Given the description of an element on the screen output the (x, y) to click on. 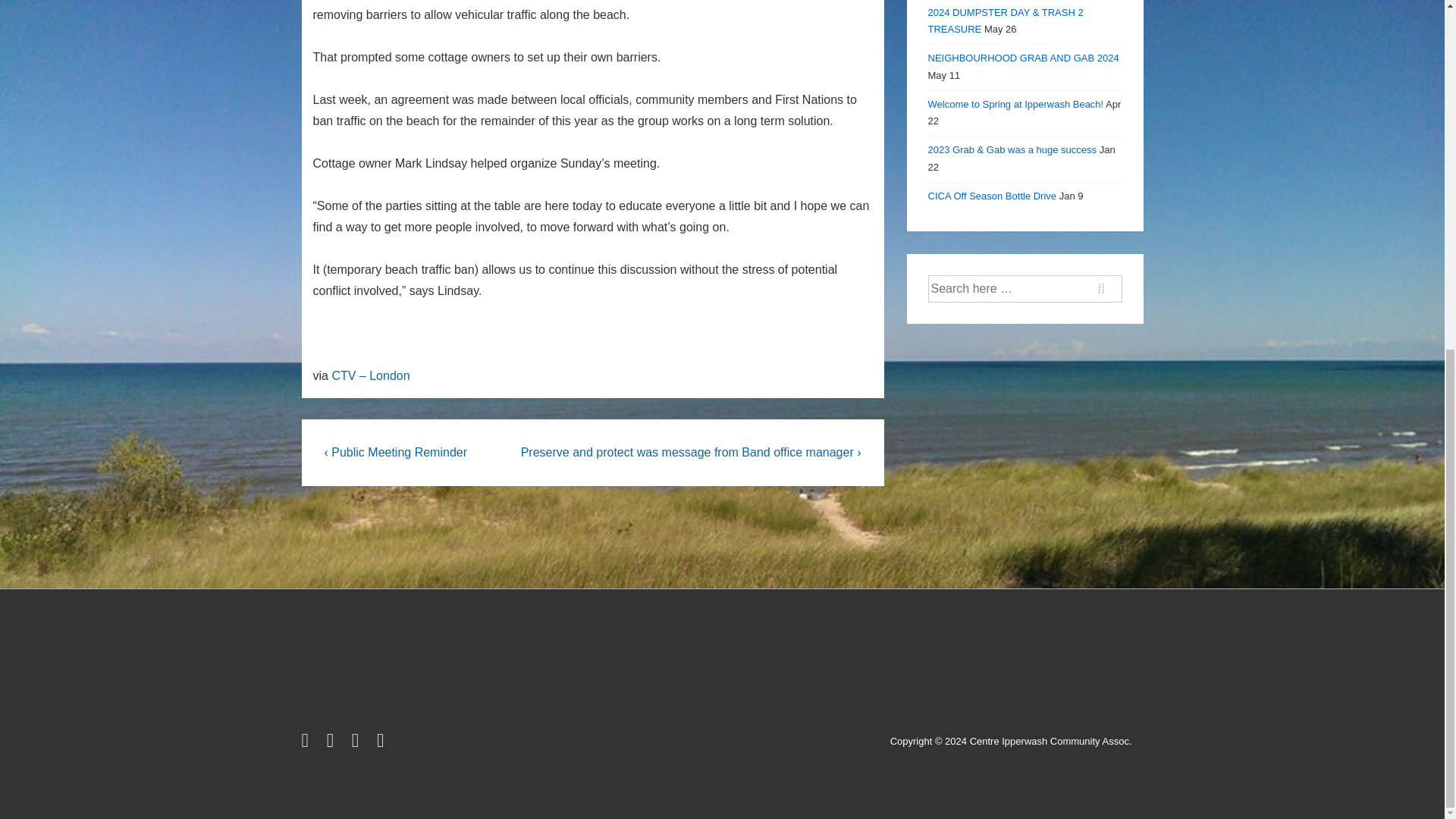
facebook (333, 743)
instagram (358, 743)
twitter (308, 743)
email (382, 743)
View the original article (370, 375)
